Given the description of an element on the screen output the (x, y) to click on. 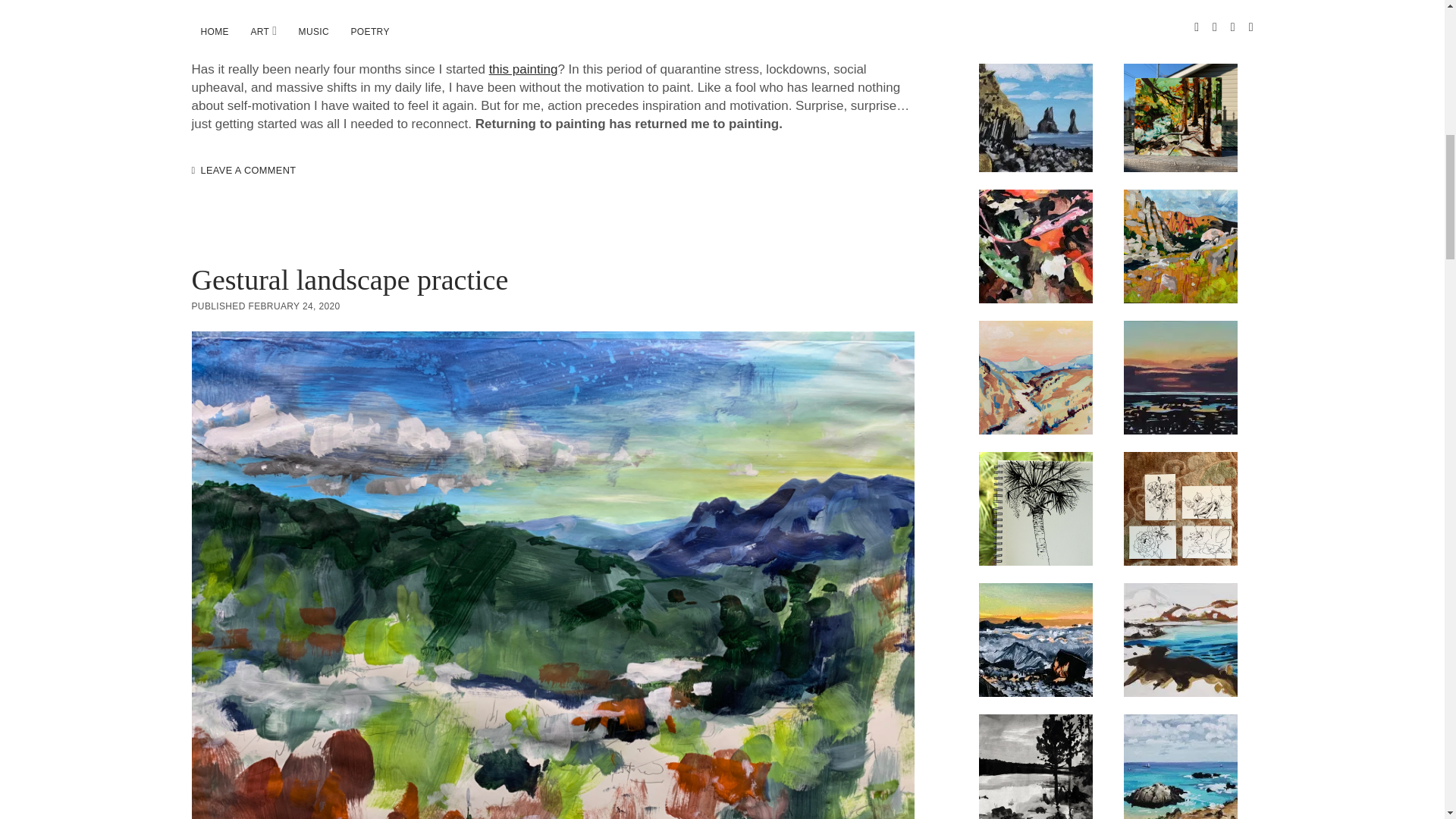
this painting (523, 69)
comment icon (192, 171)
LEAVE A COMMENT (247, 170)
Gestural landscape practice (349, 279)
